Given the description of an element on the screen output the (x, y) to click on. 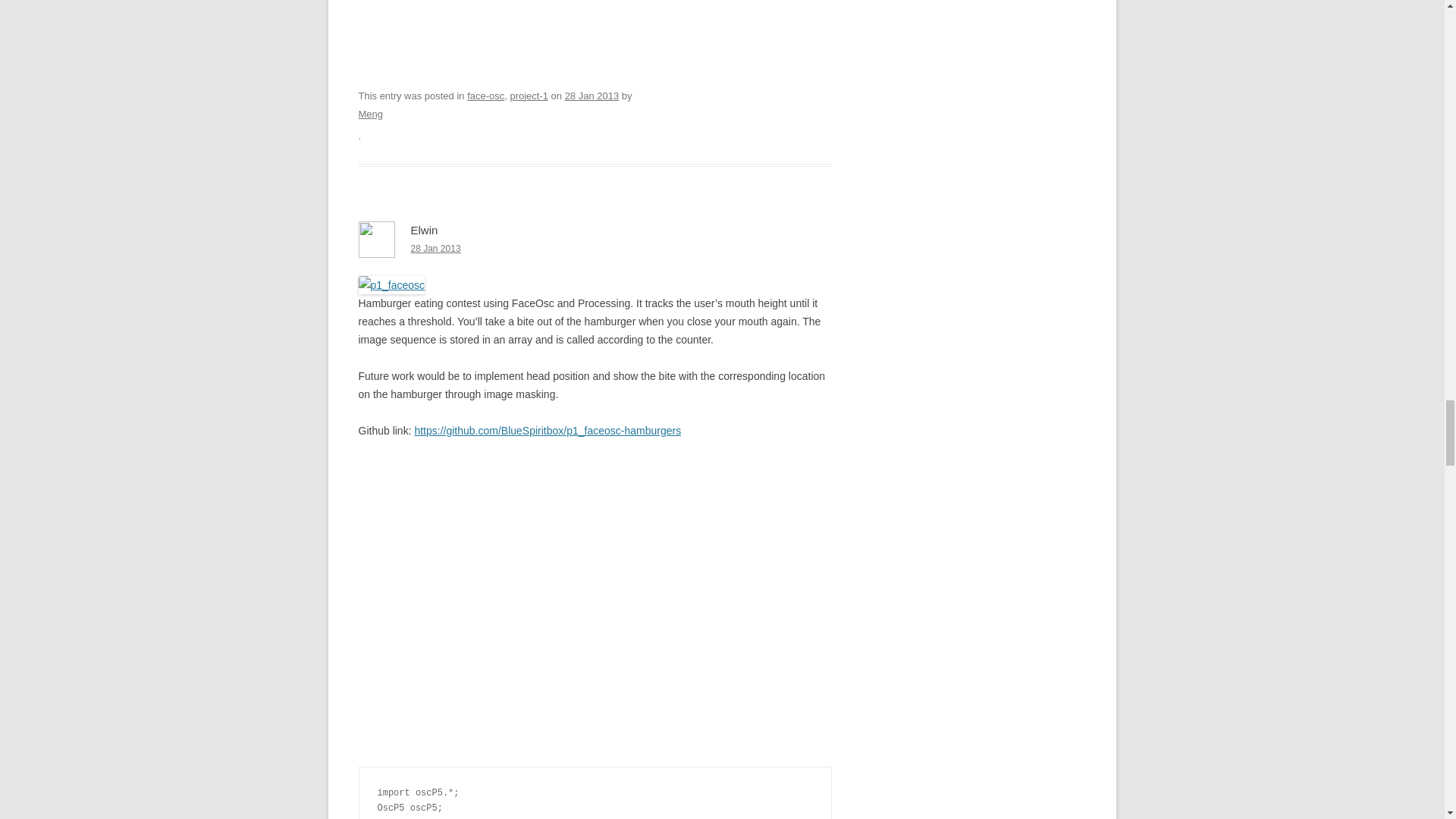
View all posts by Meng (369, 113)
7:44 am (591, 95)
